Given the description of an element on the screen output the (x, y) to click on. 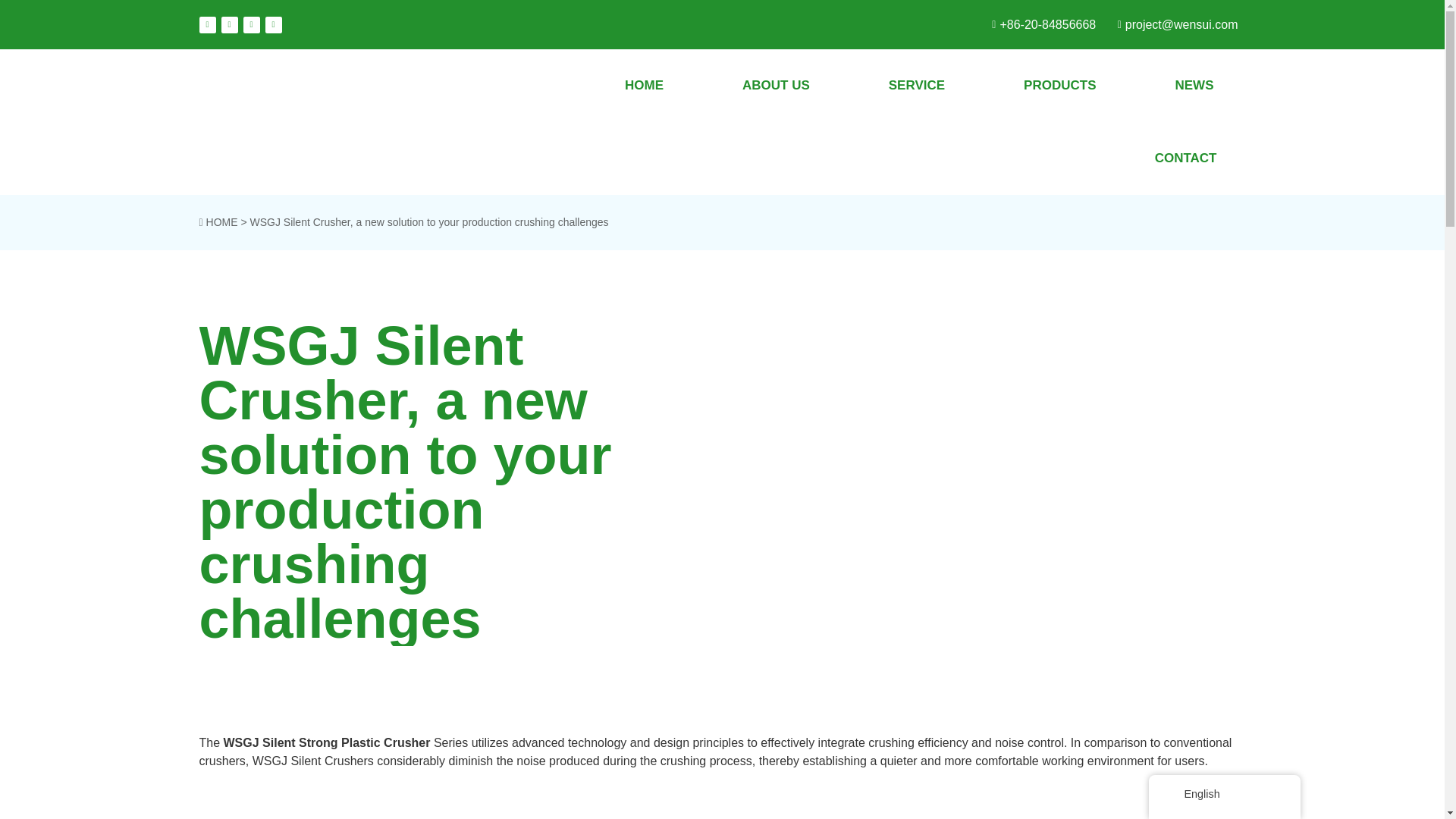
HOME (222, 222)
CONTACT (1185, 158)
ABOUT US (775, 85)
PRODUCTS (1059, 85)
HOME (644, 85)
SERVICE (916, 85)
NEWS (1194, 85)
English (1172, 794)
